Given the description of an element on the screen output the (x, y) to click on. 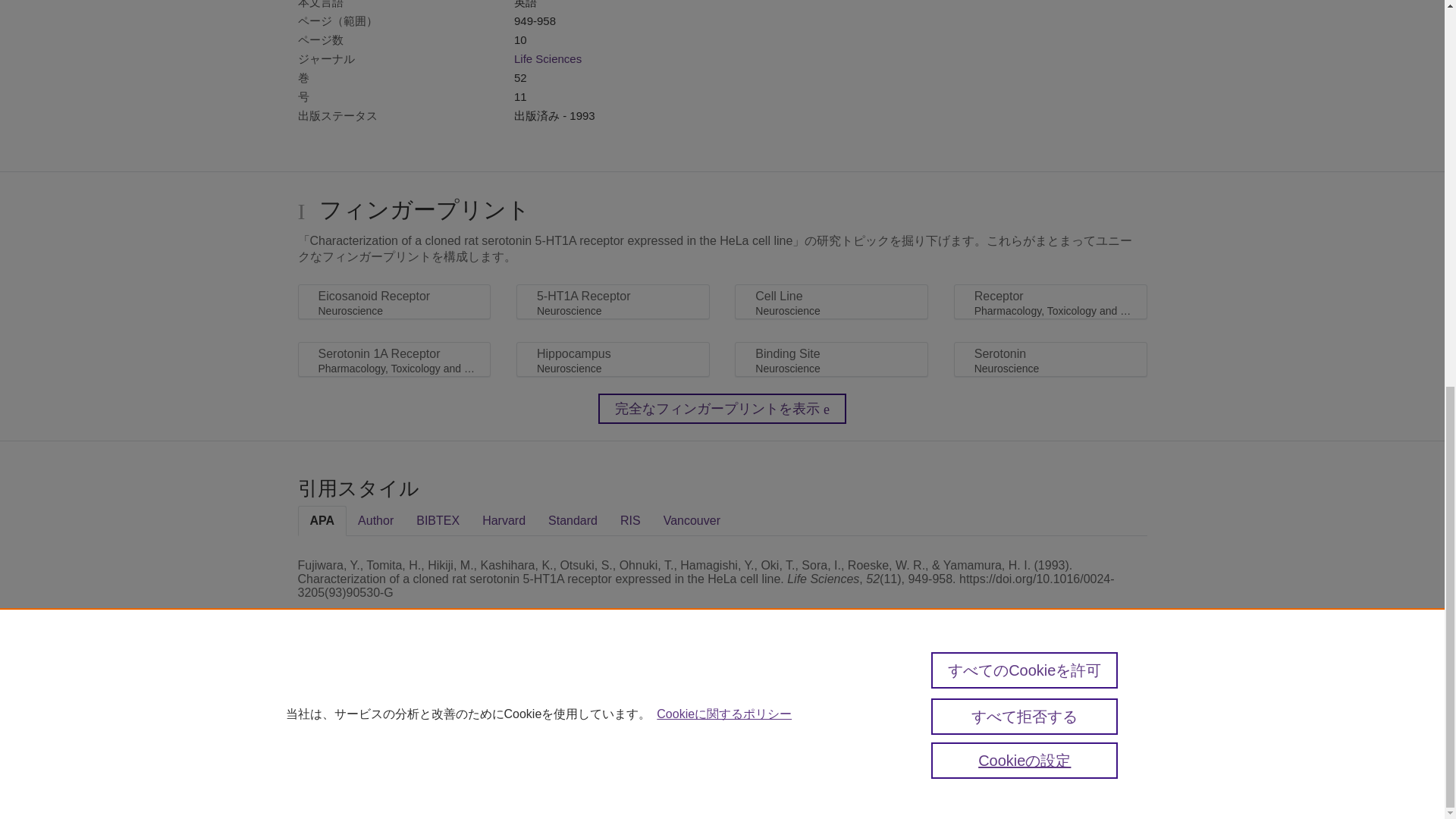
Scopus (362, 699)
Life Sciences (546, 58)
Pure (330, 699)
Elsevier B.V. (545, 722)
